Given the description of an element on the screen output the (x, y) to click on. 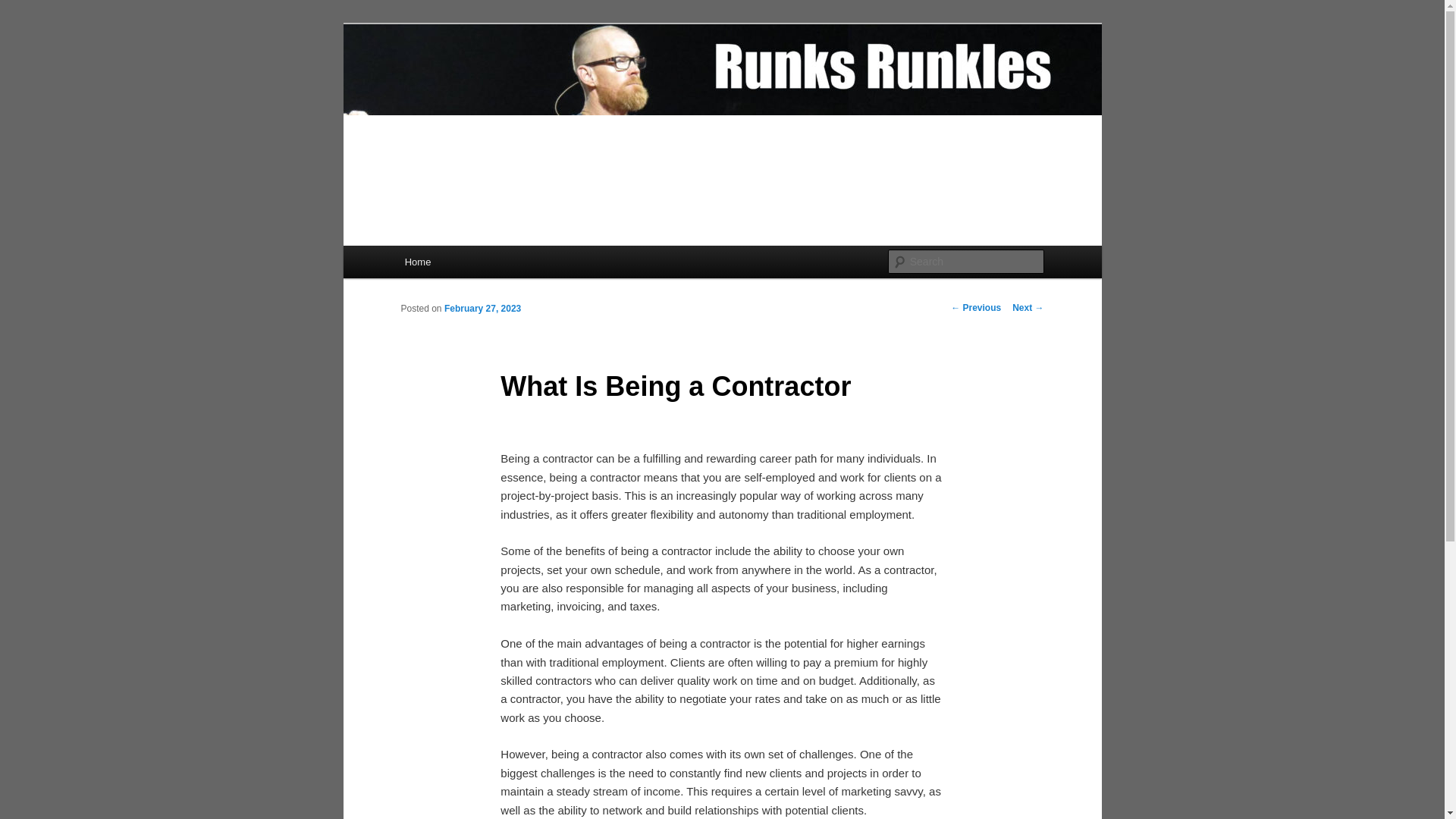
February 27, 2023 (482, 308)
Runks (435, 78)
1:01 pm (482, 308)
Home (417, 261)
Search (24, 8)
